Given the description of an element on the screen output the (x, y) to click on. 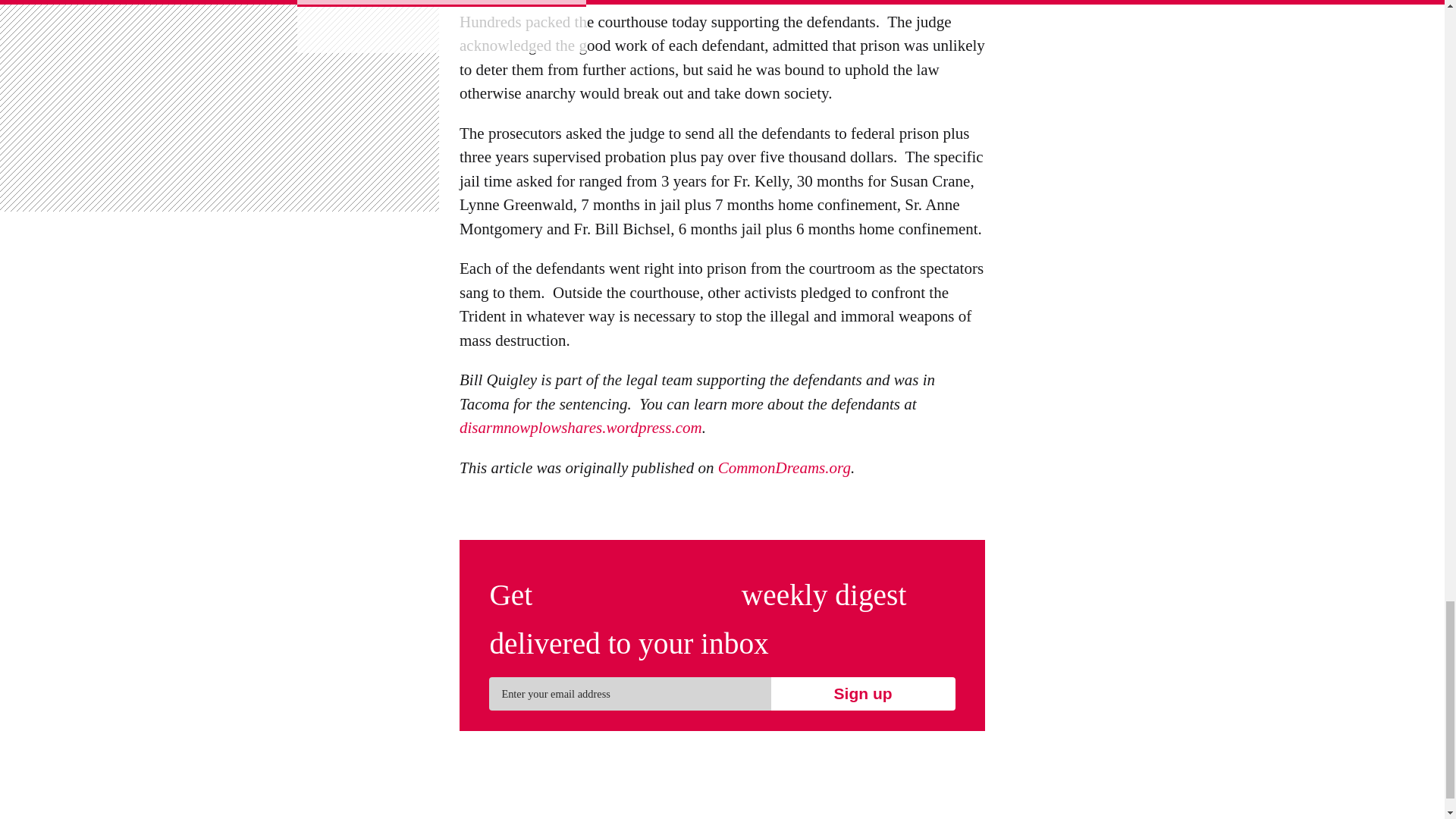
Sign up (862, 693)
CommonDreams.org (783, 468)
disarmnowplowshares.wordpress. (567, 428)
com (688, 428)
